Given the description of an element on the screen output the (x, y) to click on. 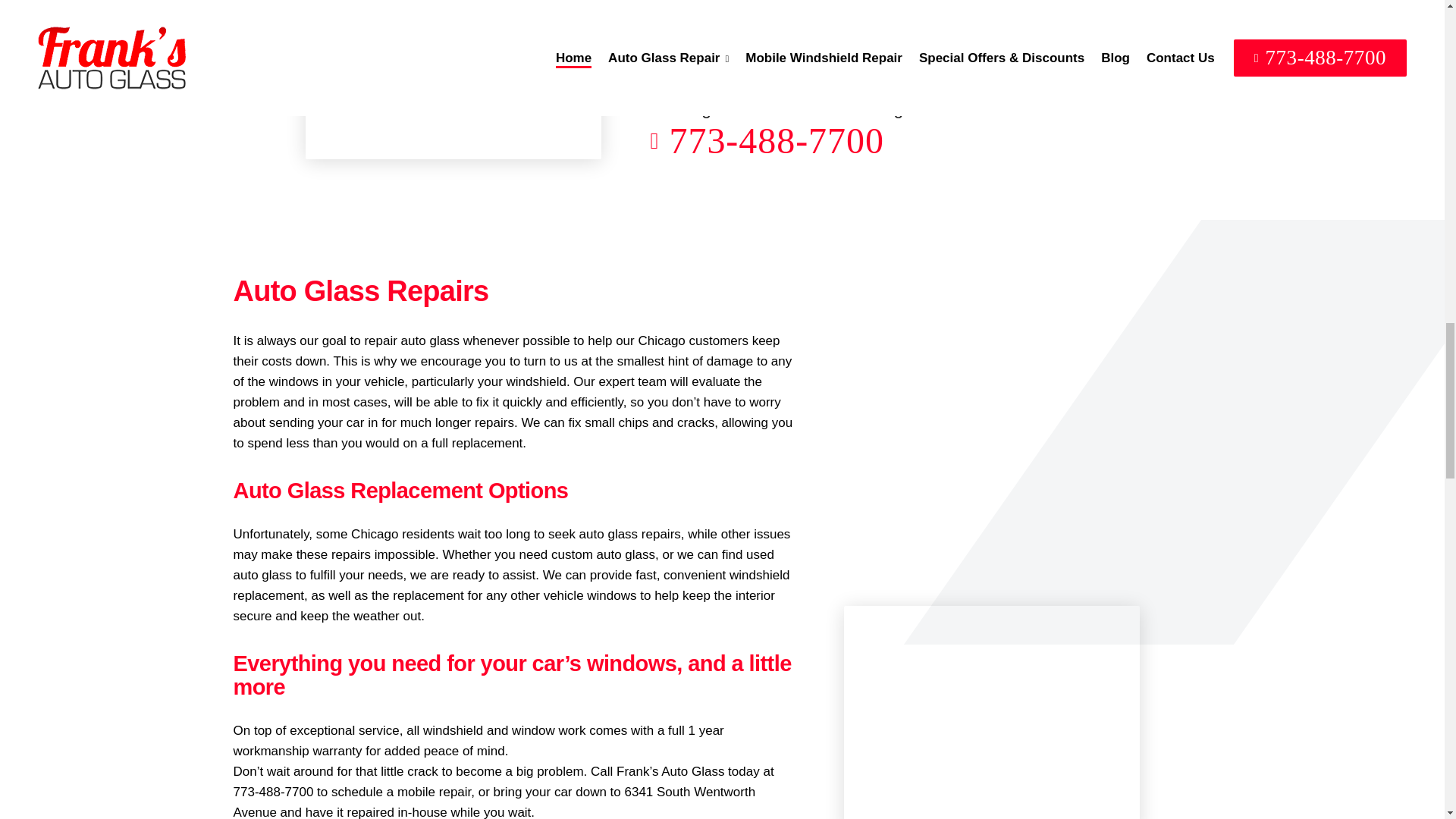
773-488-7700 (930, 140)
